Given the description of an element on the screen output the (x, y) to click on. 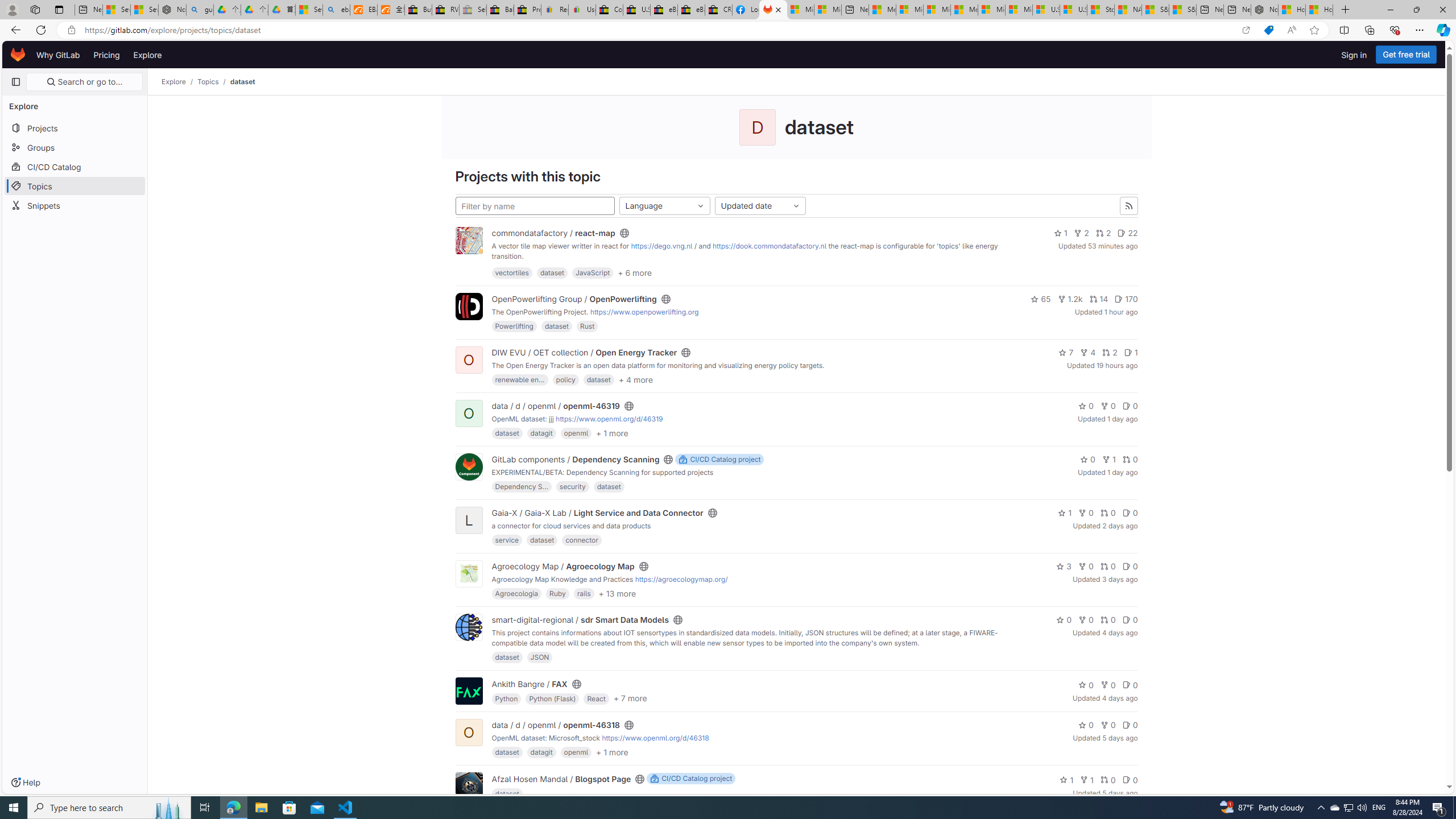
App bar (728, 29)
DIW EVU / OET collection / Open Energy Tracker (584, 352)
data / d / openml / openml-46319 (556, 406)
Topics (208, 81)
https://dook.commondatafactory.nl (769, 245)
React (595, 697)
Why GitLab (58, 54)
Python (Flask) (552, 697)
New tab (1236, 9)
Get free trial (1406, 54)
7 (1066, 352)
Refresh (40, 29)
data / d / openml / openml-46318 (556, 724)
